Given the description of an element on the screen output the (x, y) to click on. 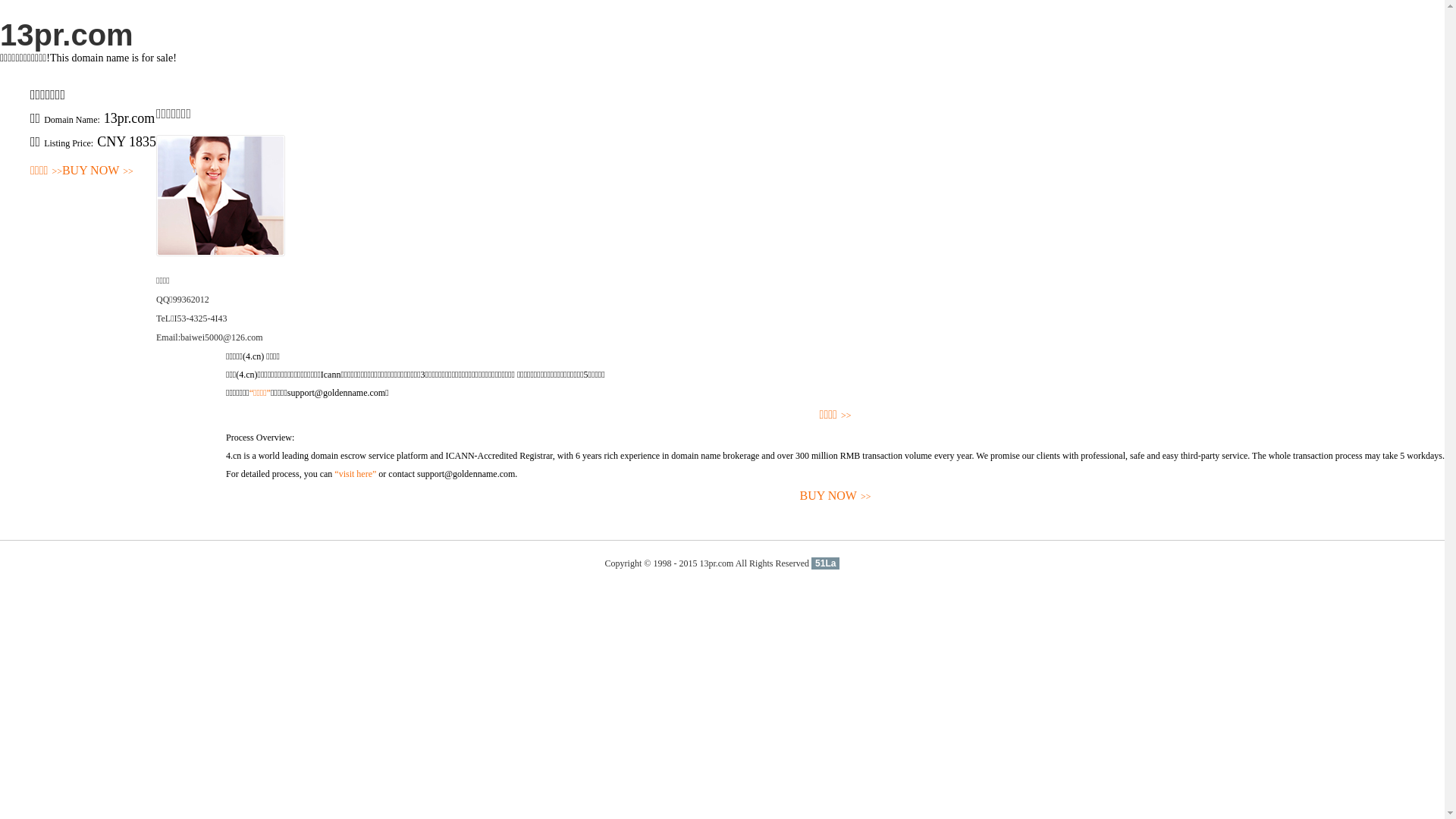
BUY NOW>> Element type: text (834, 496)
51La Element type: text (825, 563)
BUY NOW>> Element type: text (97, 170)
